Given the description of an element on the screen output the (x, y) to click on. 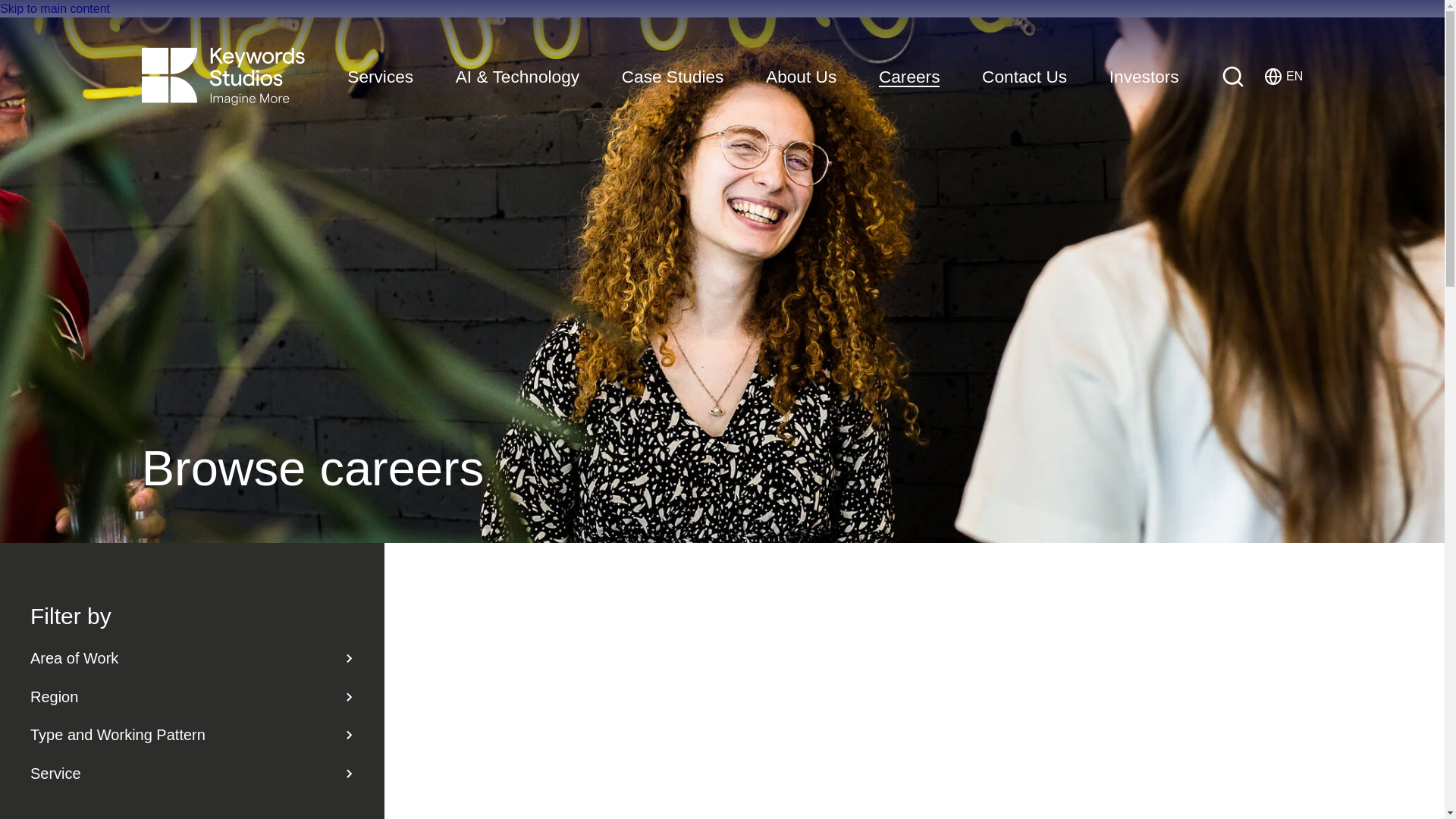
Careers (1283, 76)
Search (909, 76)
Services (1232, 76)
About Us (380, 76)
Investors (800, 76)
Skip to main content (1144, 76)
Case Studies (55, 8)
Contact Us (672, 76)
